Given the description of an element on the screen output the (x, y) to click on. 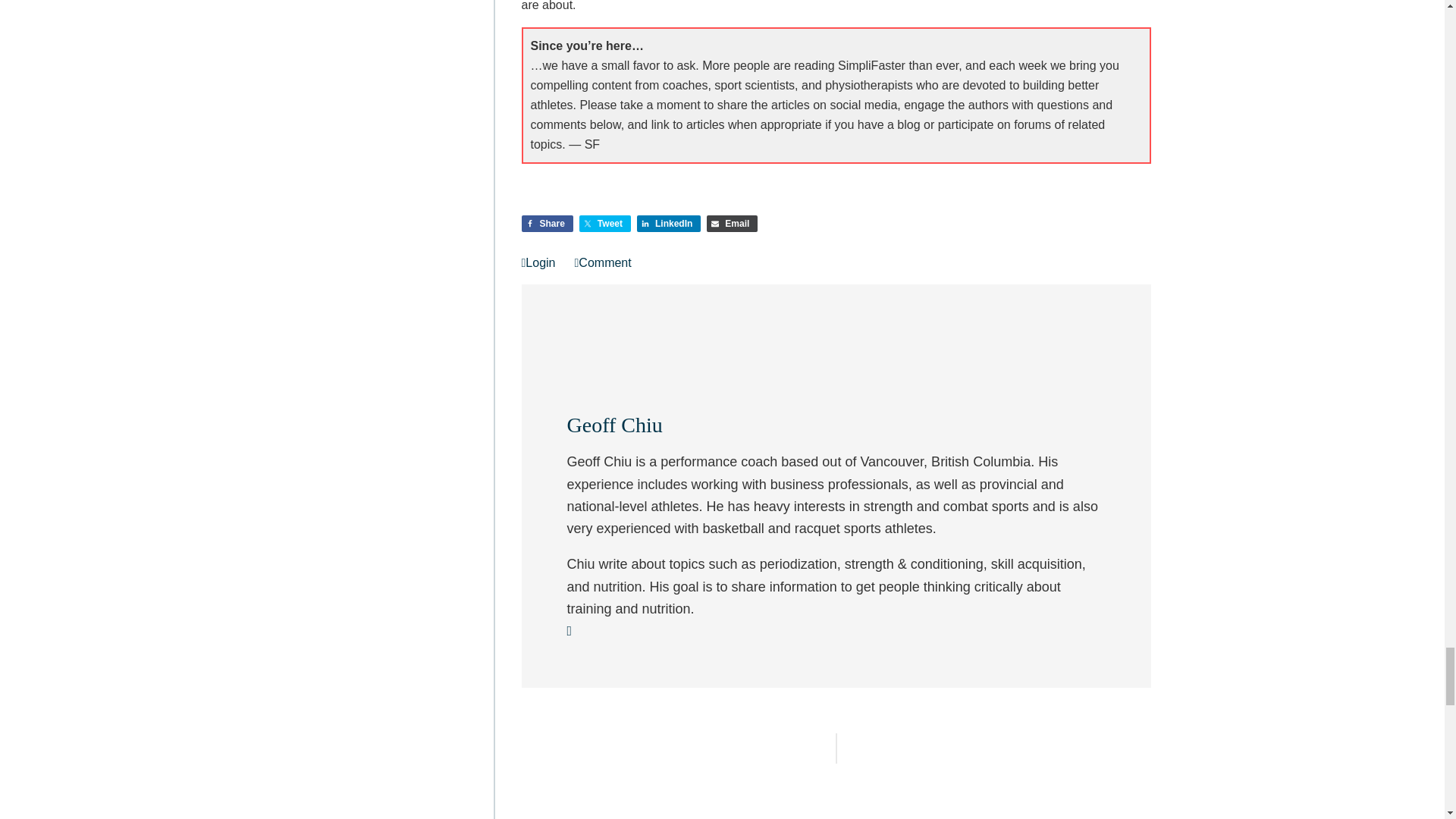
Share on Facebook (547, 223)
Share on Twitter (604, 223)
Email (731, 223)
Share on LinkedIn (668, 223)
Share via Email (731, 223)
